Given the description of an element on the screen output the (x, y) to click on. 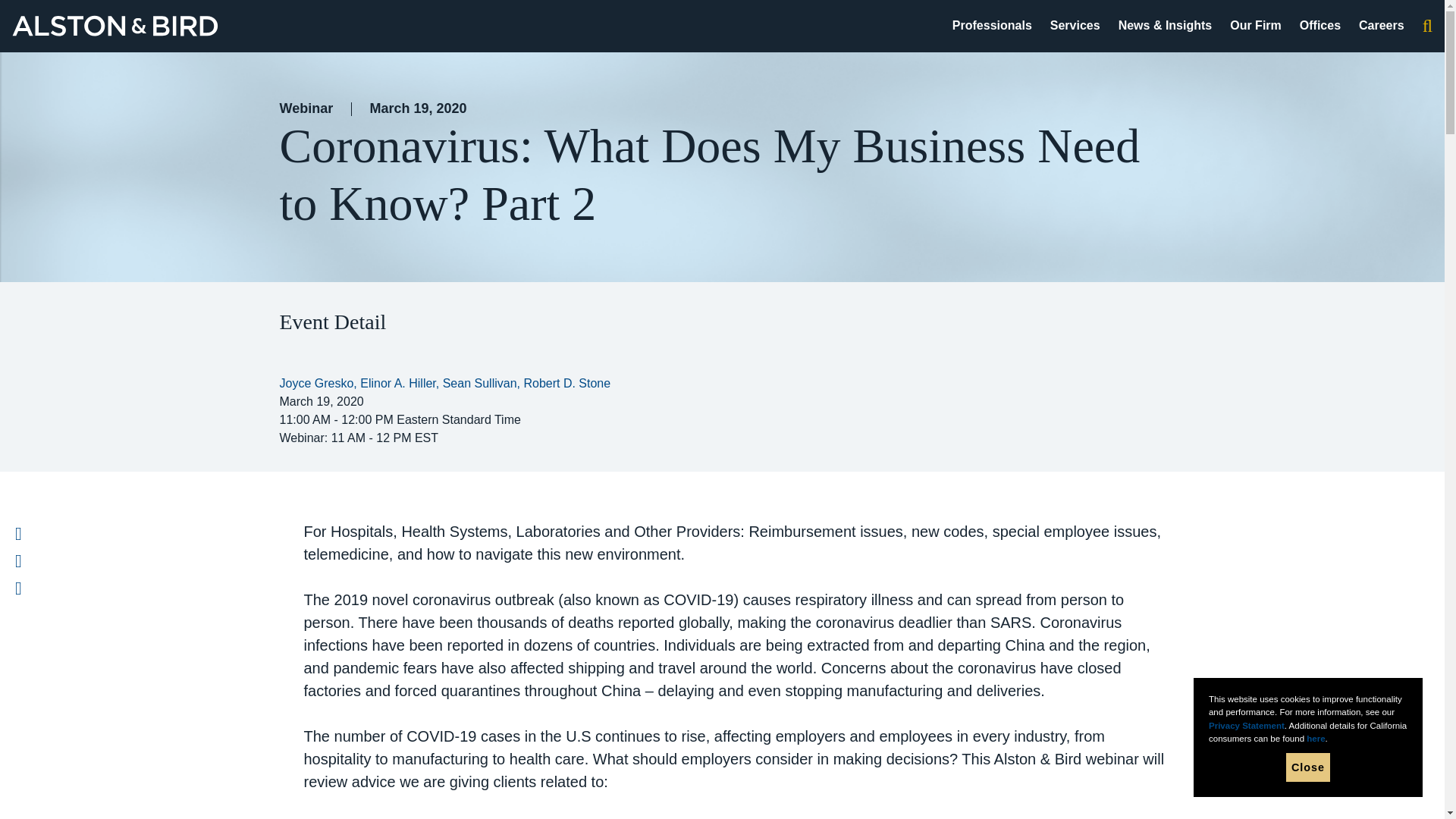
Offices (1320, 24)
Professionals (992, 24)
Careers (1381, 24)
Close (1307, 767)
Our Firm (1255, 24)
Joyce Gresko, (319, 382)
Robert D. Stone (566, 382)
Sean Sullivan, (483, 382)
Services (1074, 24)
Elinor A. Hiller, (400, 382)
